Given the description of an element on the screen output the (x, y) to click on. 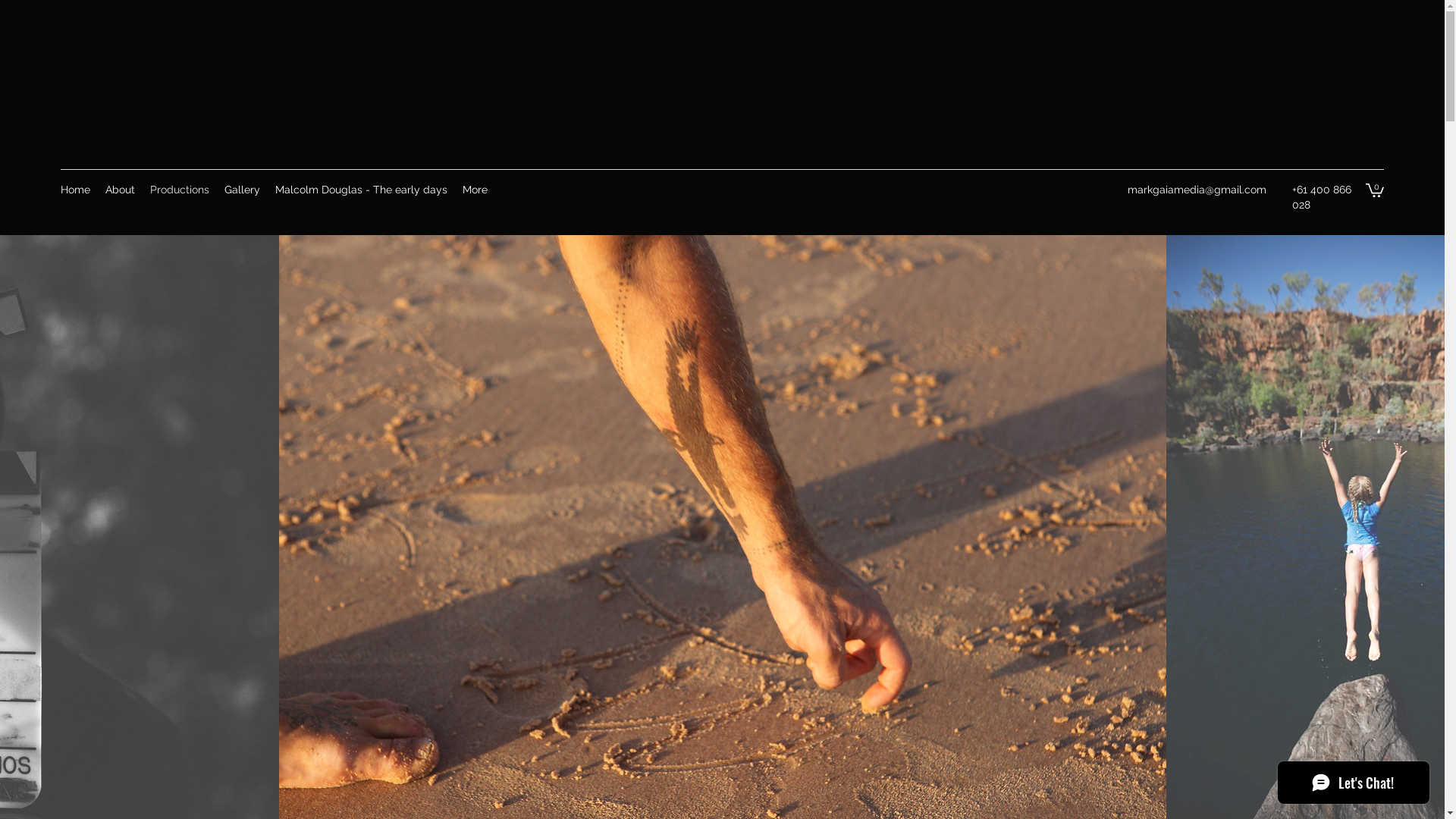
Productions Element type: text (179, 189)
markgaiamedia@gmail.com Element type: text (1196, 189)
About Element type: text (119, 189)
Malcolm Douglas - The early days Element type: text (361, 189)
0 Element type: text (1374, 189)
Gallery Element type: text (241, 189)
Home Element type: text (75, 189)
